Given the description of an element on the screen output the (x, y) to click on. 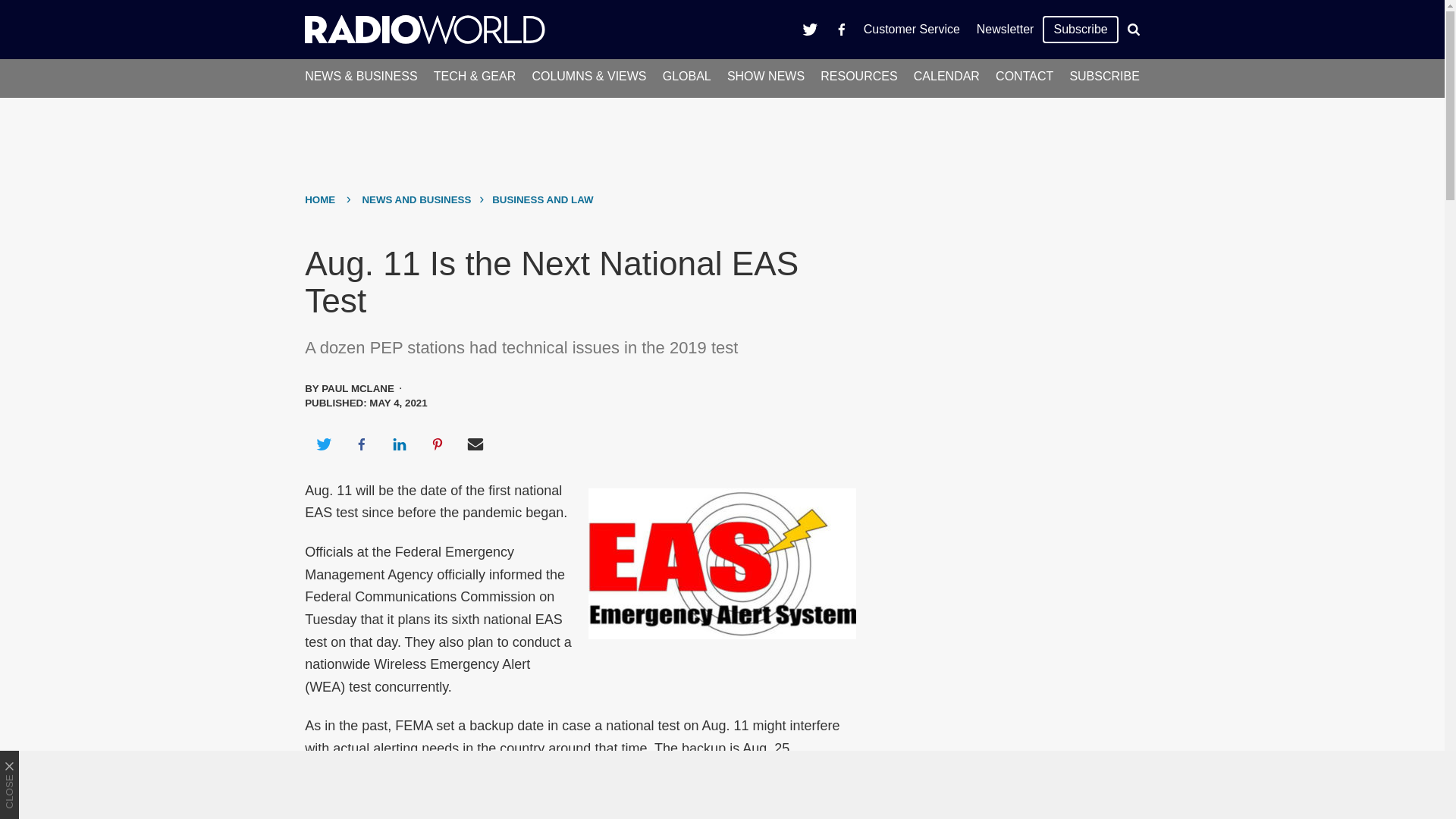
Share on LinkedIn (399, 444)
Share on Pinterest (438, 444)
Customer Service (912, 29)
Share via Email (476, 444)
Share on Twitter (323, 444)
Share on Facebook (361, 444)
